Given the description of an element on the screen output the (x, y) to click on. 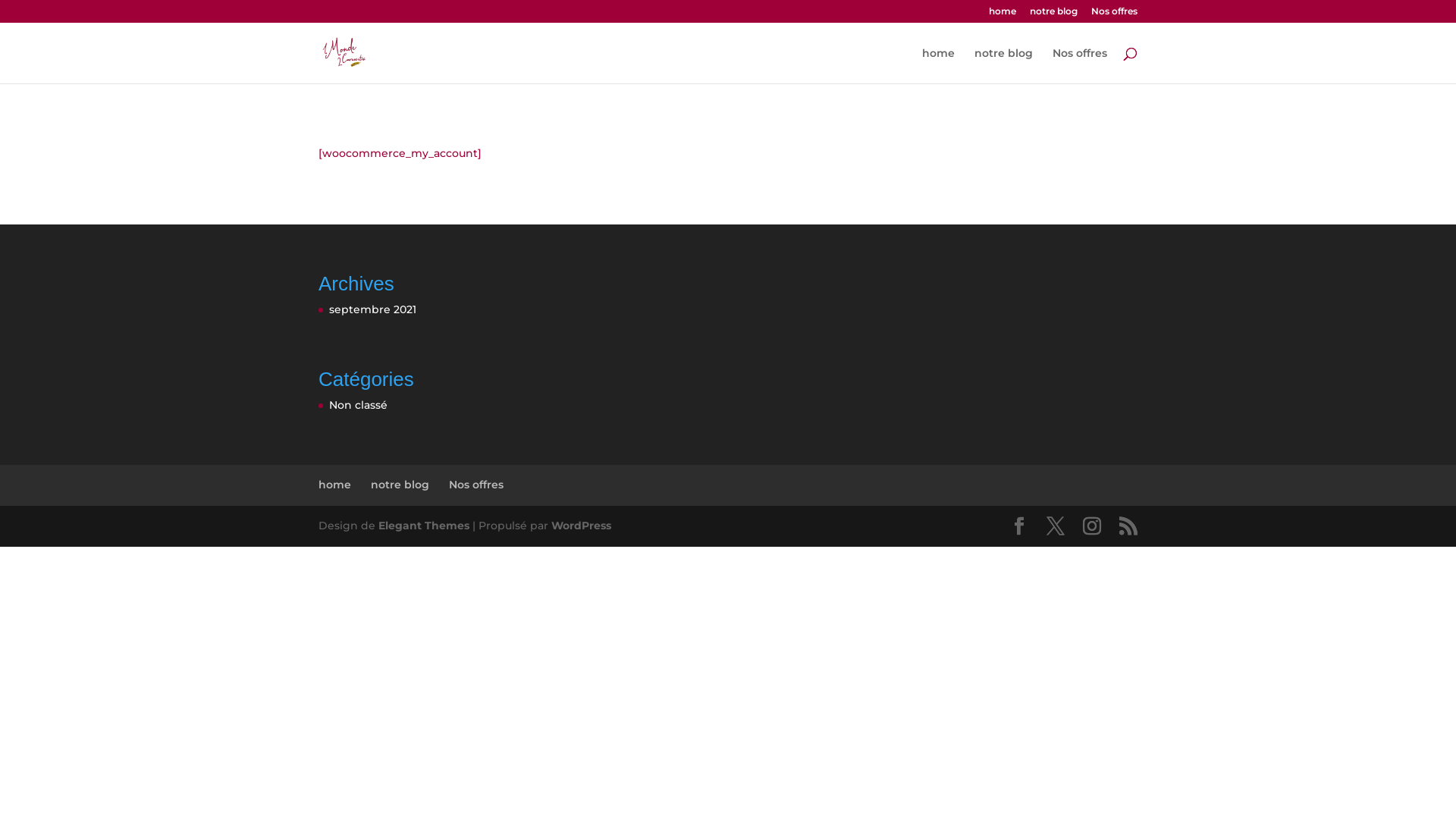
notre blog Element type: text (399, 484)
Nos offres Element type: text (1079, 65)
Nos offres Element type: text (475, 484)
notre blog Element type: text (1053, 14)
notre blog Element type: text (1003, 65)
Elegant Themes Element type: text (423, 525)
home Element type: text (1002, 14)
home Element type: text (334, 484)
Nos offres Element type: text (1114, 14)
WordPress Element type: text (581, 525)
septembre 2021 Element type: text (372, 309)
home Element type: text (938, 65)
